Given the description of an element on the screen output the (x, y) to click on. 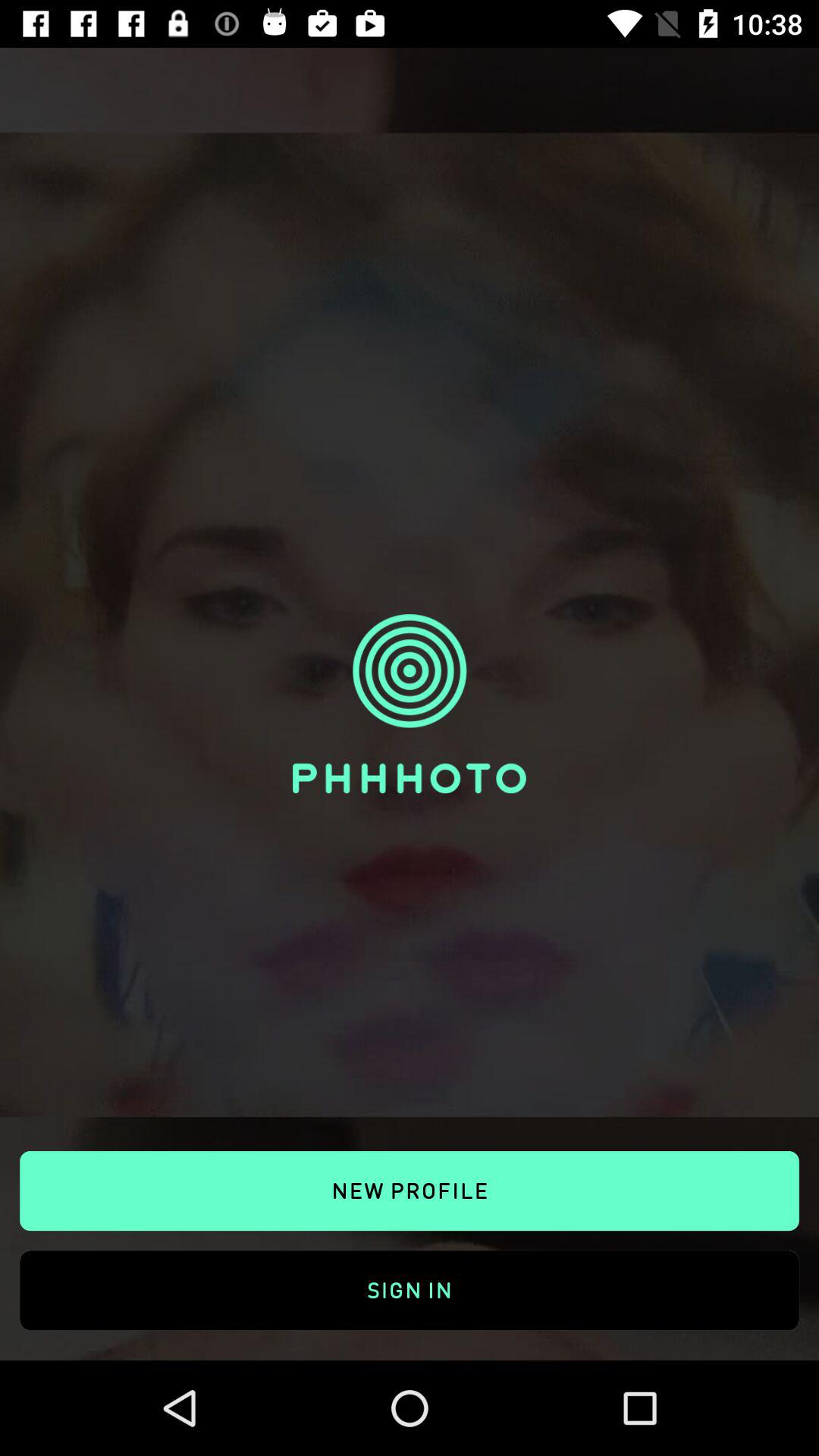
tap to sign in (409, 1272)
